Given the description of an element on the screen output the (x, y) to click on. 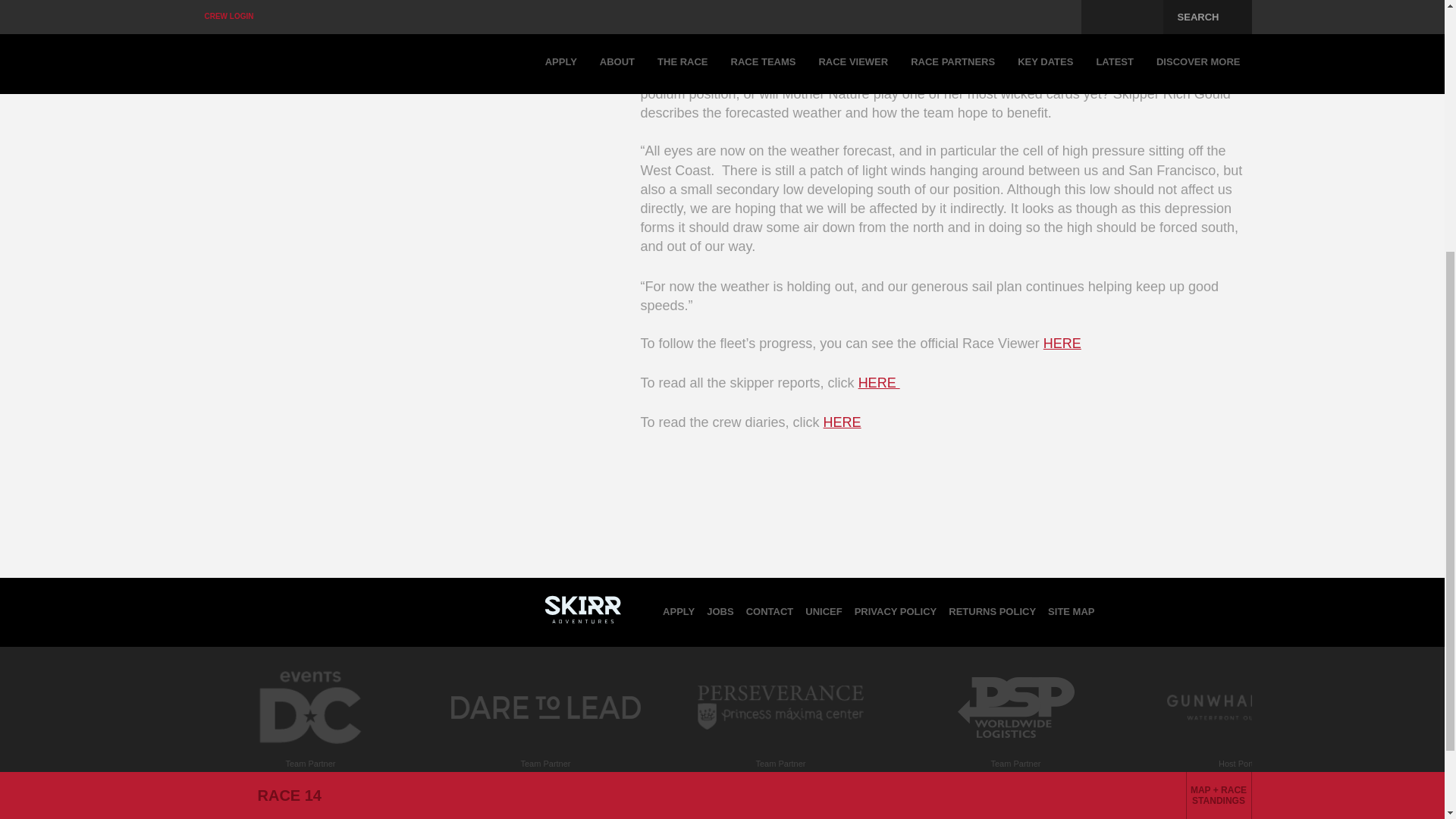
PSP Logistics (1014, 751)
Events DC (309, 757)
Gunwharf Quays (1250, 751)
Dare To Lead (544, 751)
Perseverance (780, 751)
